Given the description of an element on the screen output the (x, y) to click on. 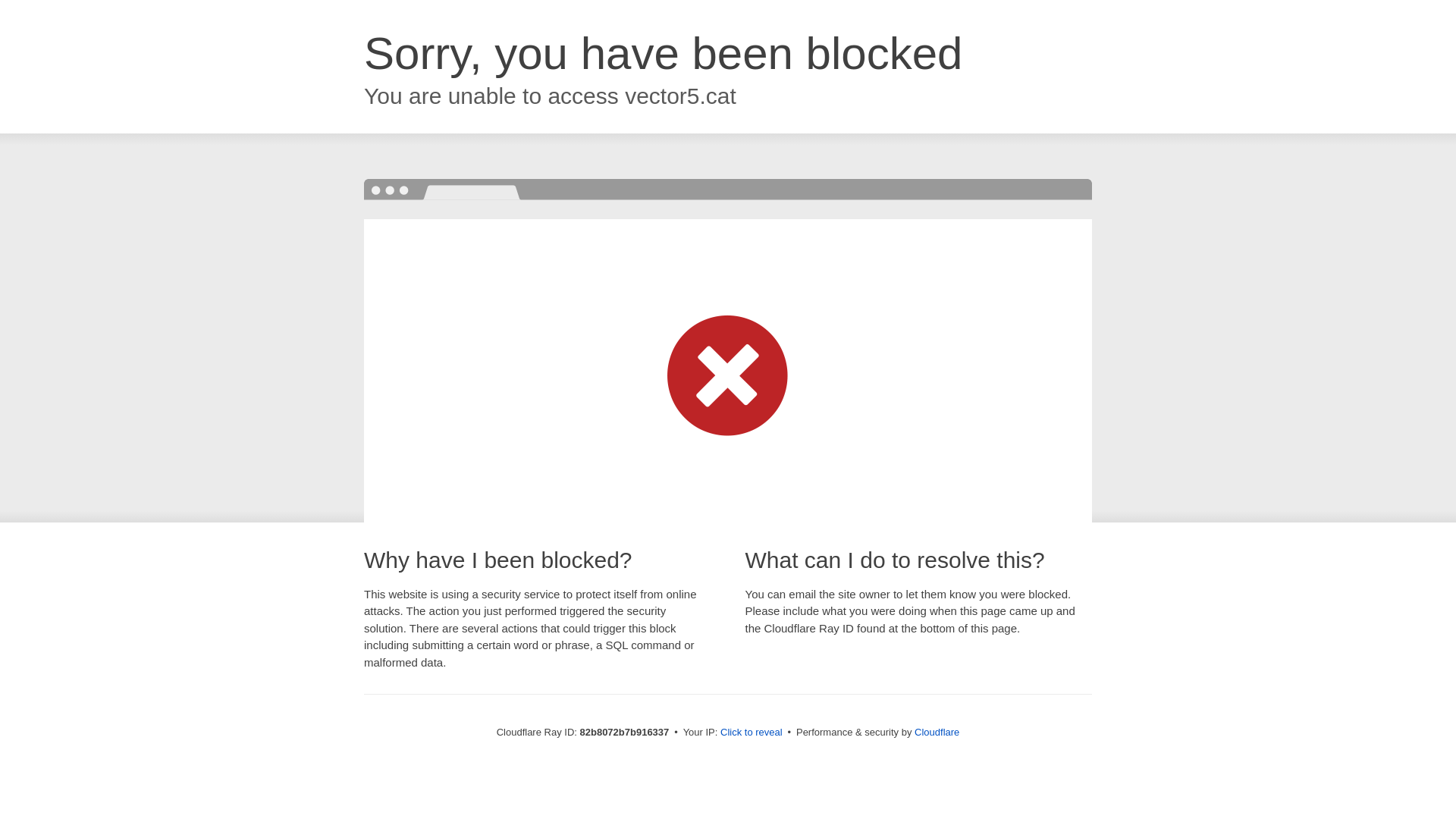
Cloudflare Element type: text (936, 731)
Click to reveal Element type: text (751, 732)
